Given the description of an element on the screen output the (x, y) to click on. 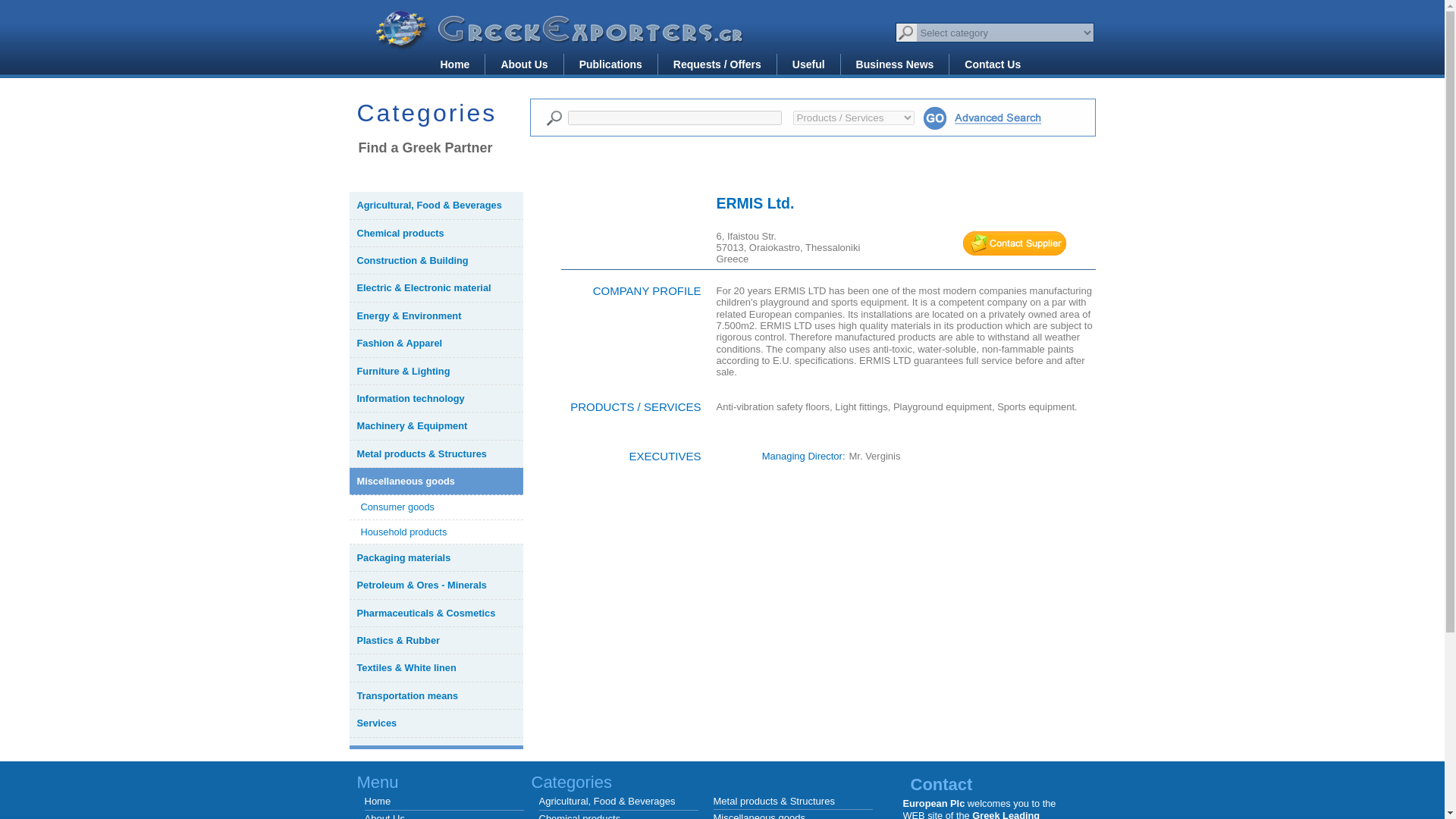
Search (553, 118)
Transportation means (435, 696)
Services (435, 723)
Publications (610, 64)
Search (553, 118)
About Us (523, 64)
Useful (808, 64)
Search (934, 118)
Greek Exporters (561, 39)
mail (1013, 243)
